Given the description of an element on the screen output the (x, y) to click on. 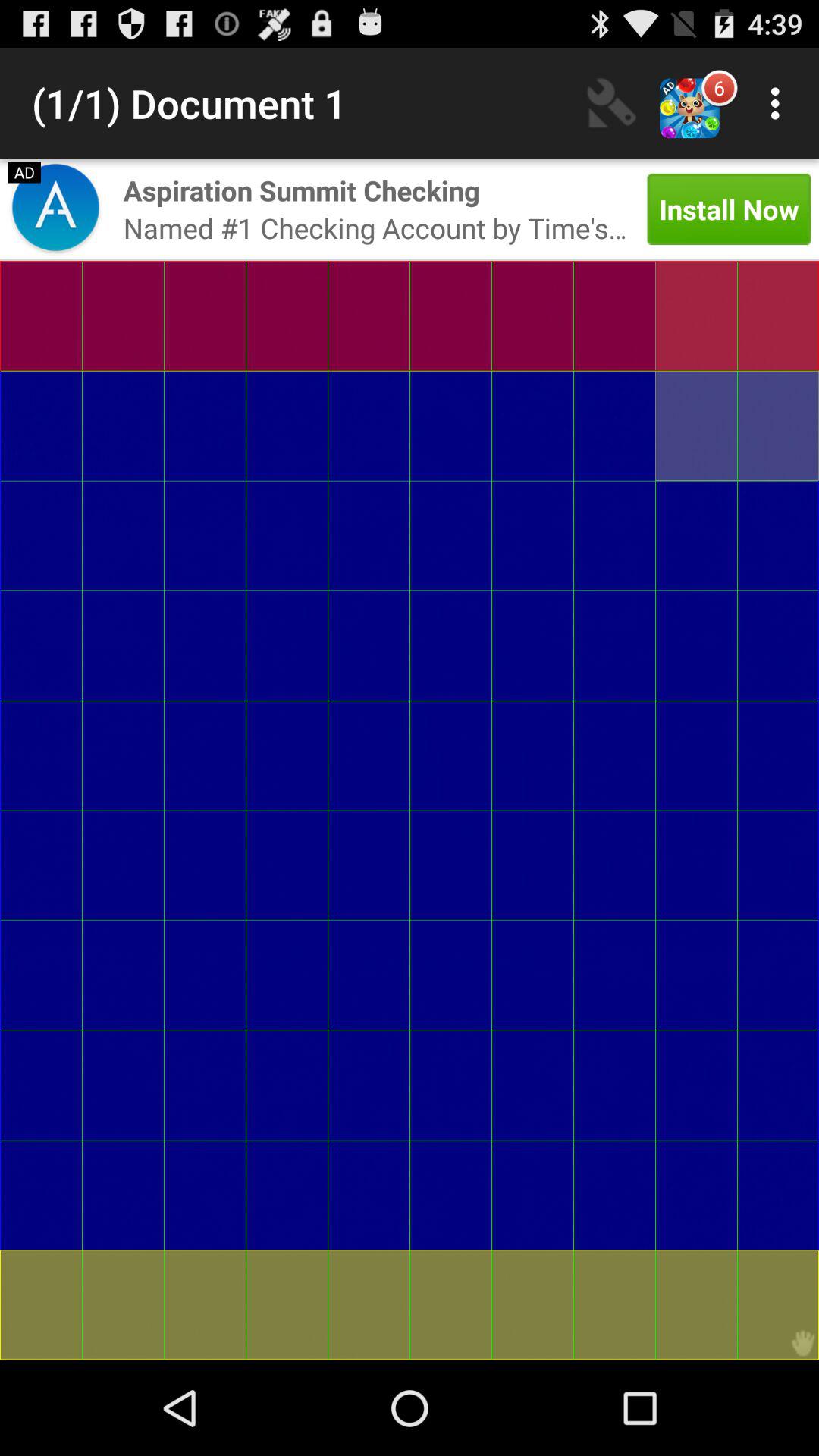
turn off item next to 1 1 document item (611, 103)
